Given the description of an element on the screen output the (x, y) to click on. 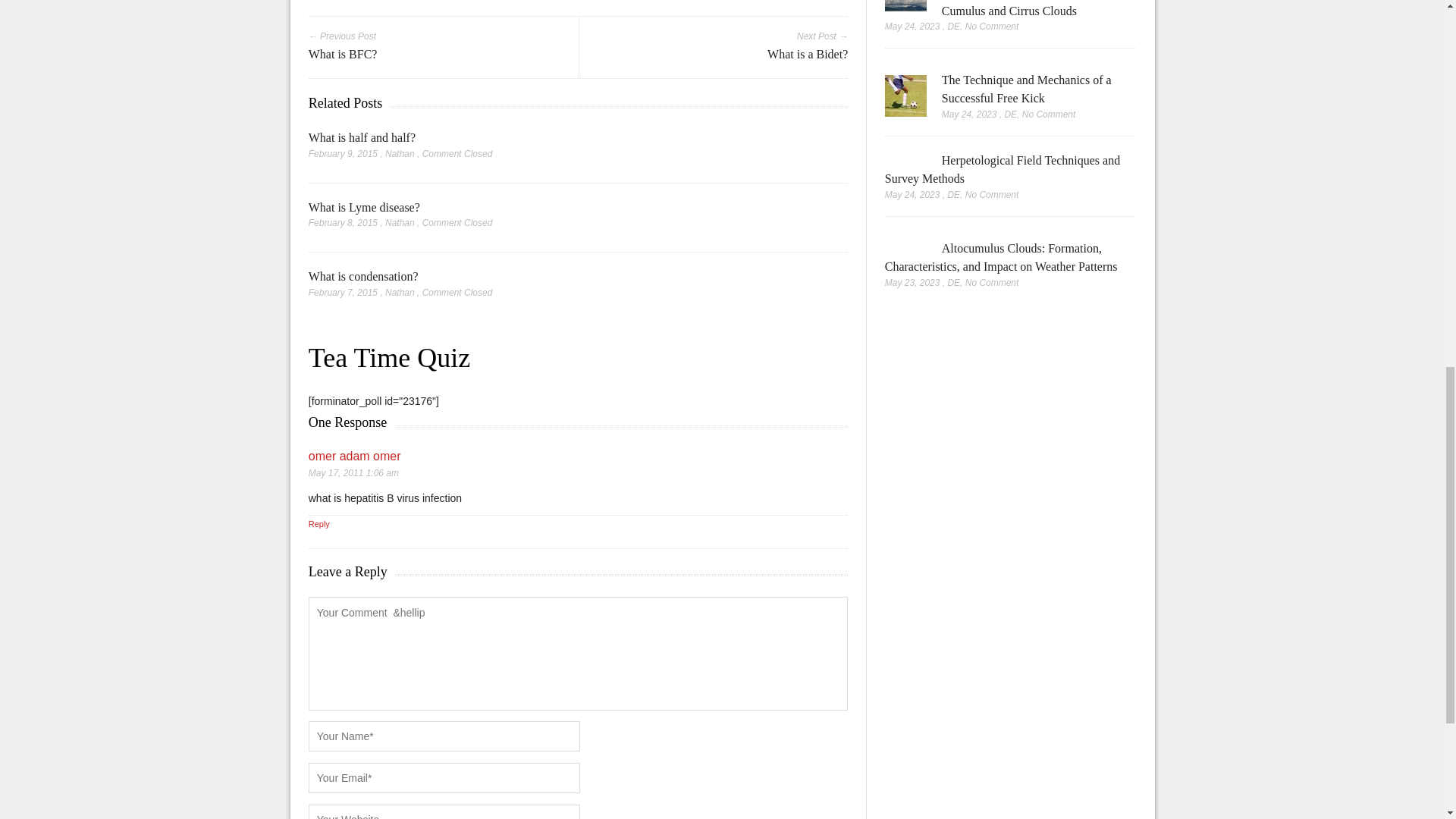
Posts by Nathan (399, 222)
Posts by Nathan (399, 153)
What is Lyme disease? (364, 206)
May 17, 2011 1:06 am (353, 472)
Reply (319, 523)
Nathan (399, 153)
Nathan (399, 222)
What is Lyme disease? (364, 206)
What is half and half? (361, 137)
What is condensation? (363, 276)
omer adam omer (354, 455)
Posts by Nathan (399, 292)
Nathan (399, 292)
What is condensation? (363, 276)
What is half and half? (361, 137)
